Given the description of an element on the screen output the (x, y) to click on. 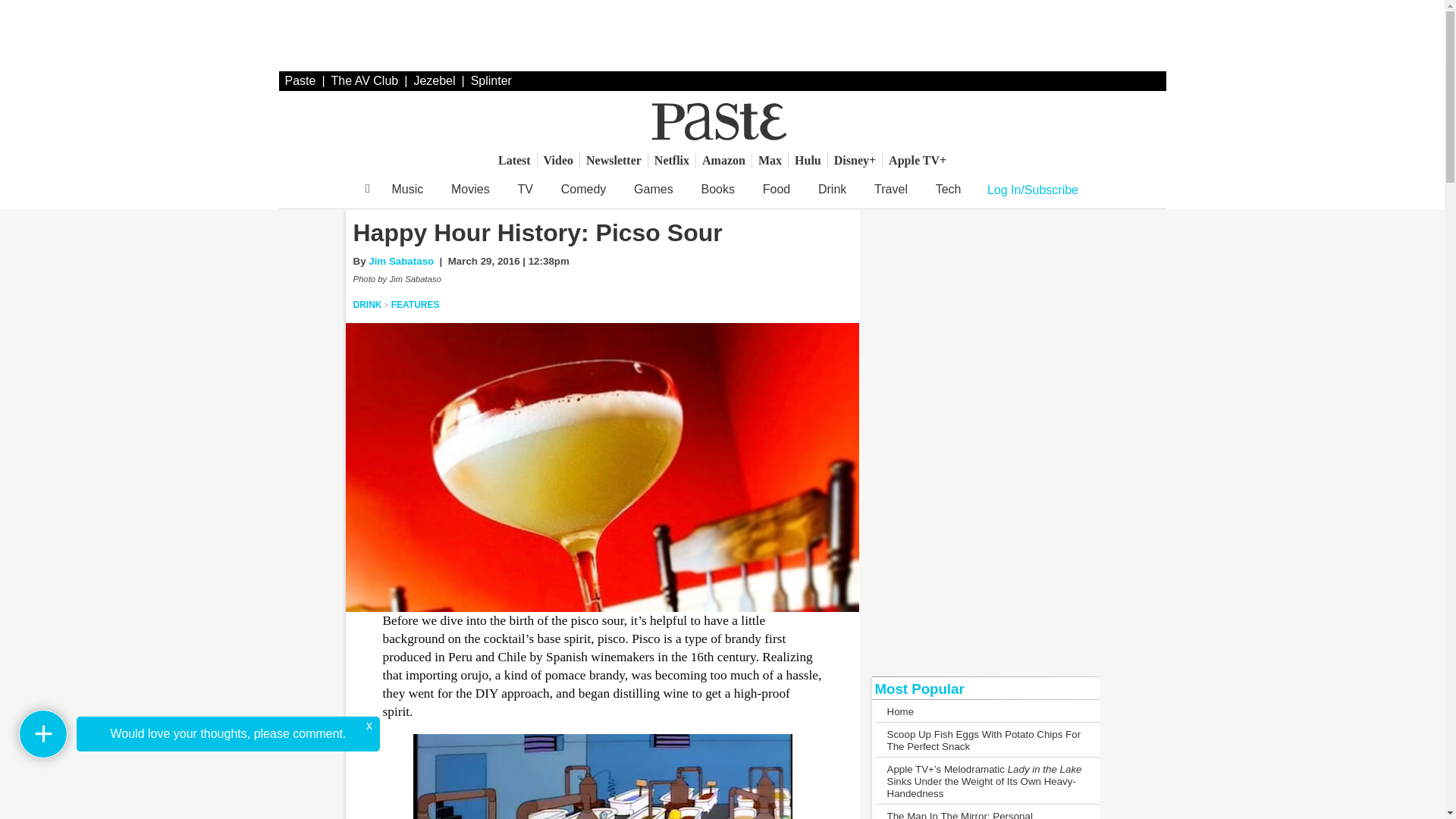
Video (558, 160)
Latest (514, 160)
Max (769, 160)
Hulu (808, 160)
Amazon (723, 160)
Netflix (671, 160)
Newsletter (613, 160)
Splinter (491, 80)
The AV Club (364, 80)
Paste (300, 80)
Jezebel (433, 80)
